Given the description of an element on the screen output the (x, y) to click on. 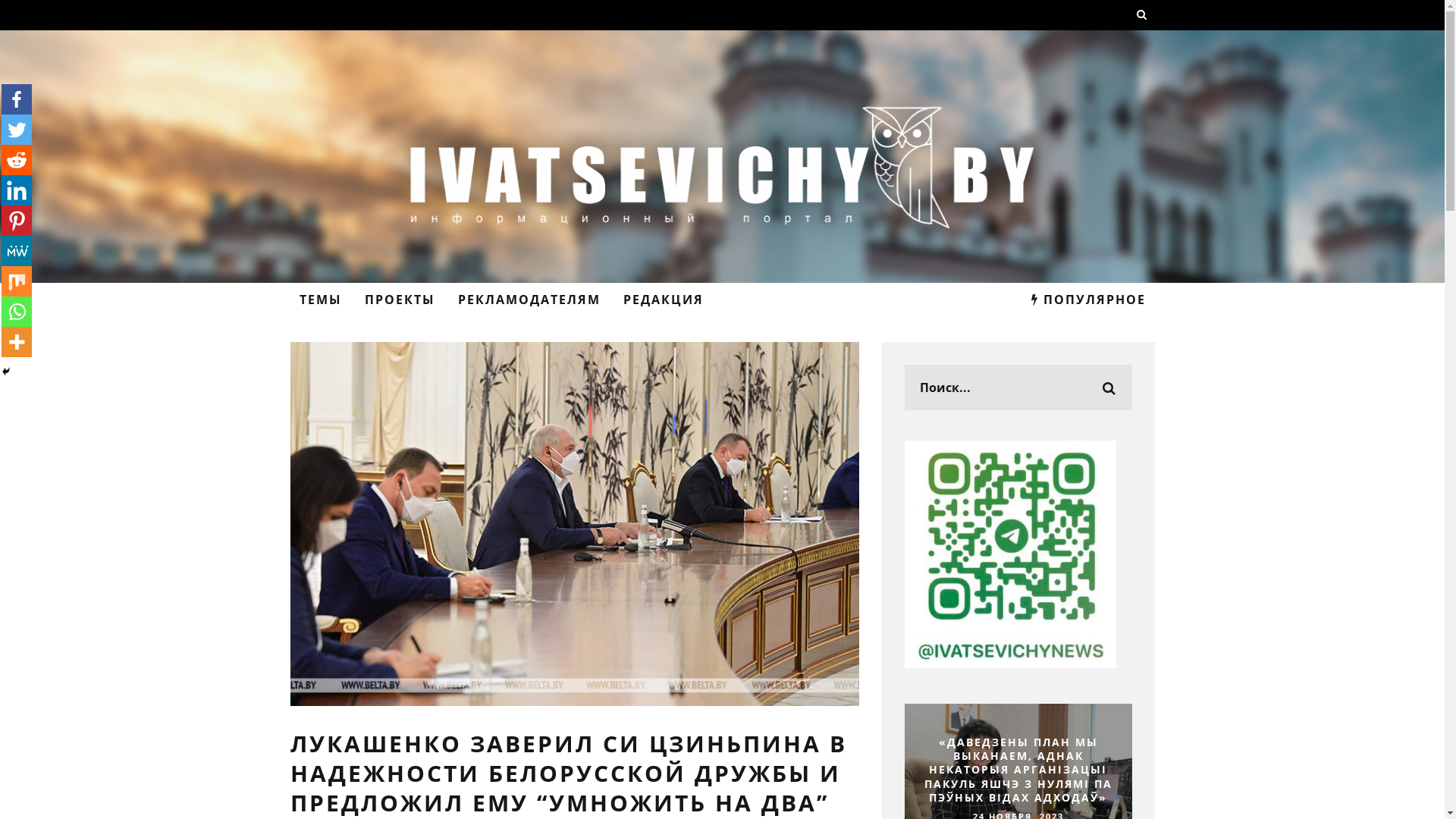
Whatsapp Element type: hover (16, 311)
Twitter Element type: hover (16, 129)
Hide Element type: hover (6, 371)
More Element type: hover (16, 341)
MeWe Element type: hover (16, 250)
Facebook Element type: hover (16, 99)
Reddit Element type: hover (16, 159)
Mix Element type: hover (16, 281)
Pinterest Element type: hover (16, 220)
Linkedin Element type: hover (16, 190)
